Given the description of an element on the screen output the (x, y) to click on. 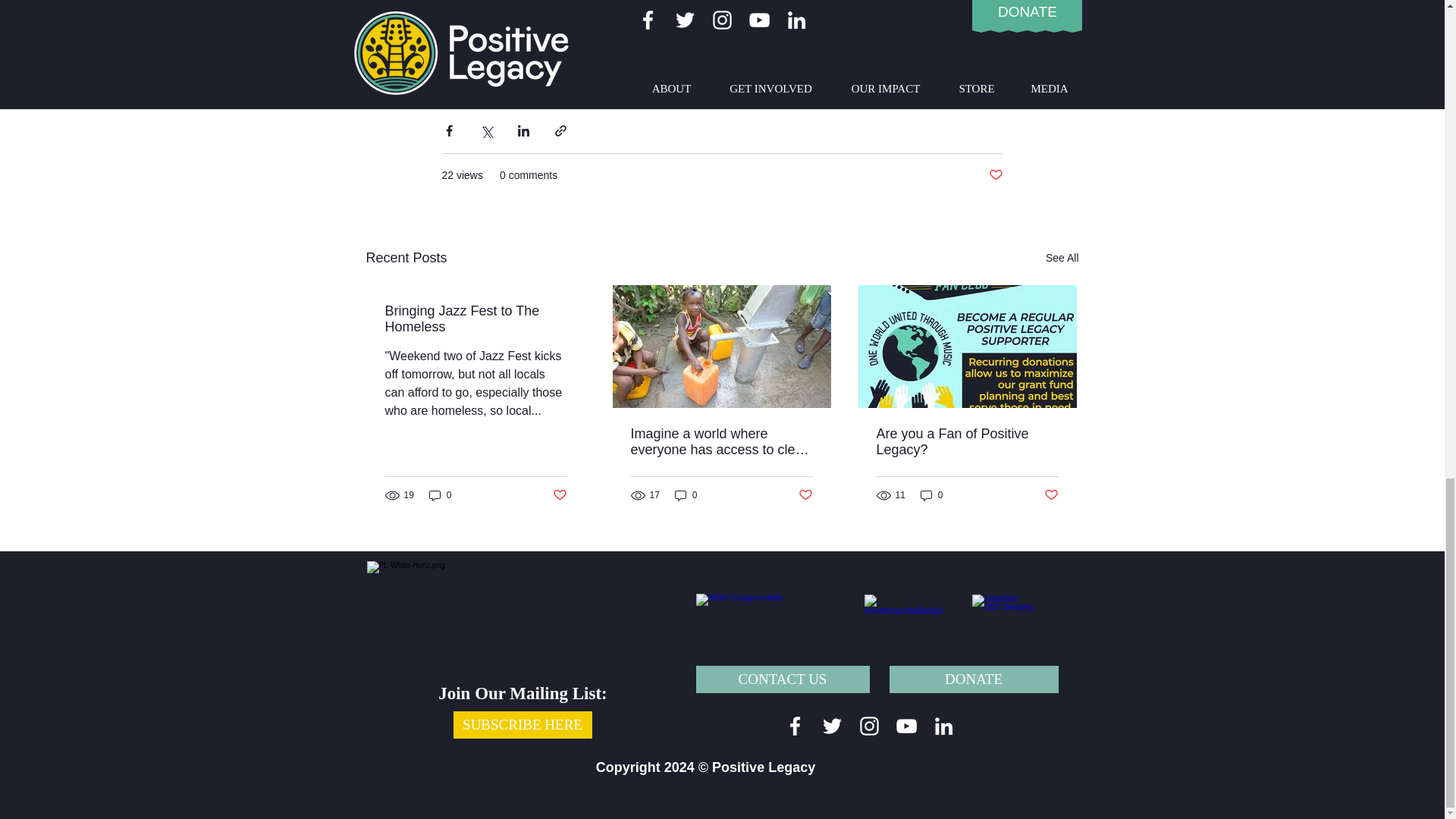
Bringing Jazz Fest to The Homeless (476, 318)
Post not marked as liked (995, 175)
See All (1061, 258)
